Given the description of an element on the screen output the (x, y) to click on. 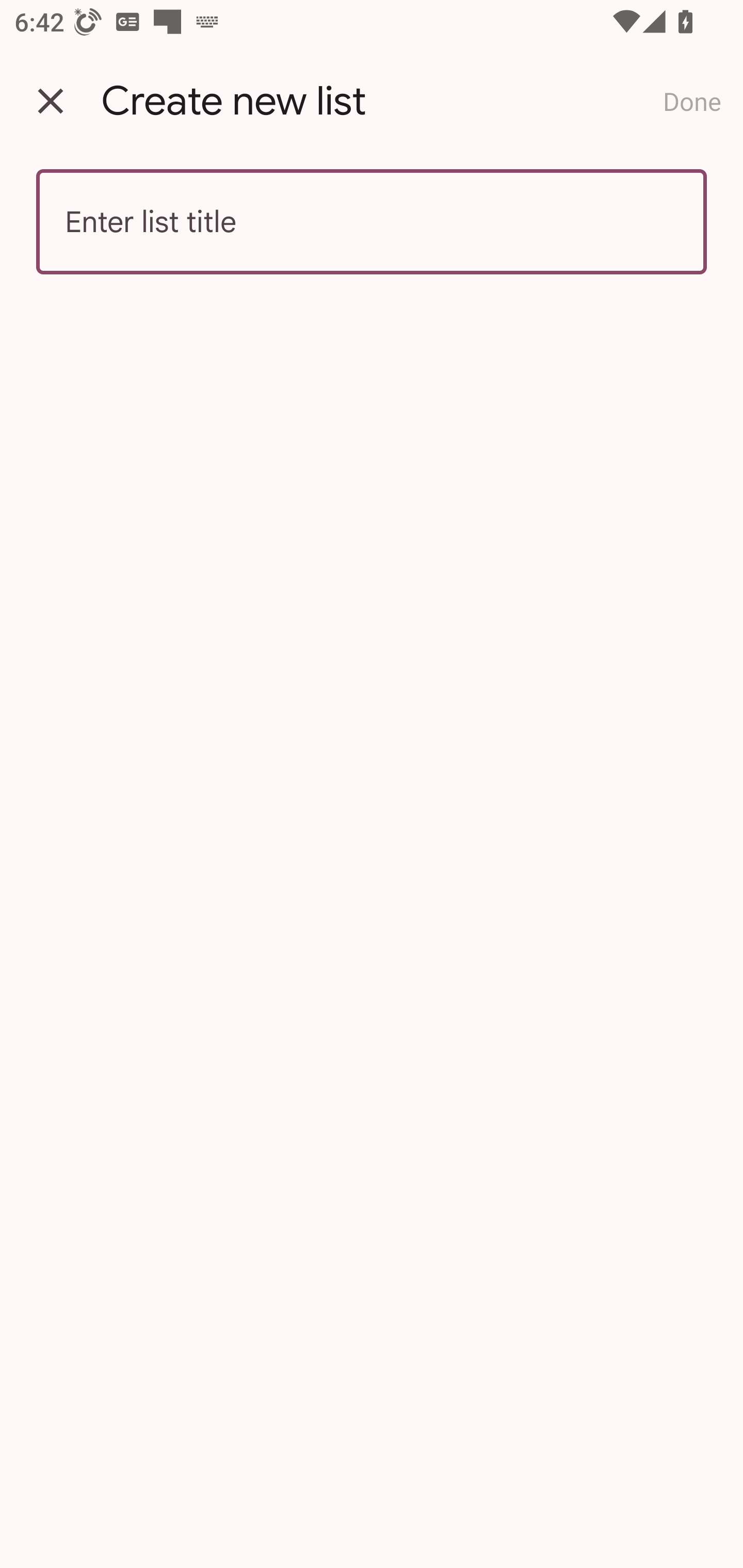
Back (50, 101)
Done (692, 101)
Enter list title (371, 221)
